Given the description of an element on the screen output the (x, y) to click on. 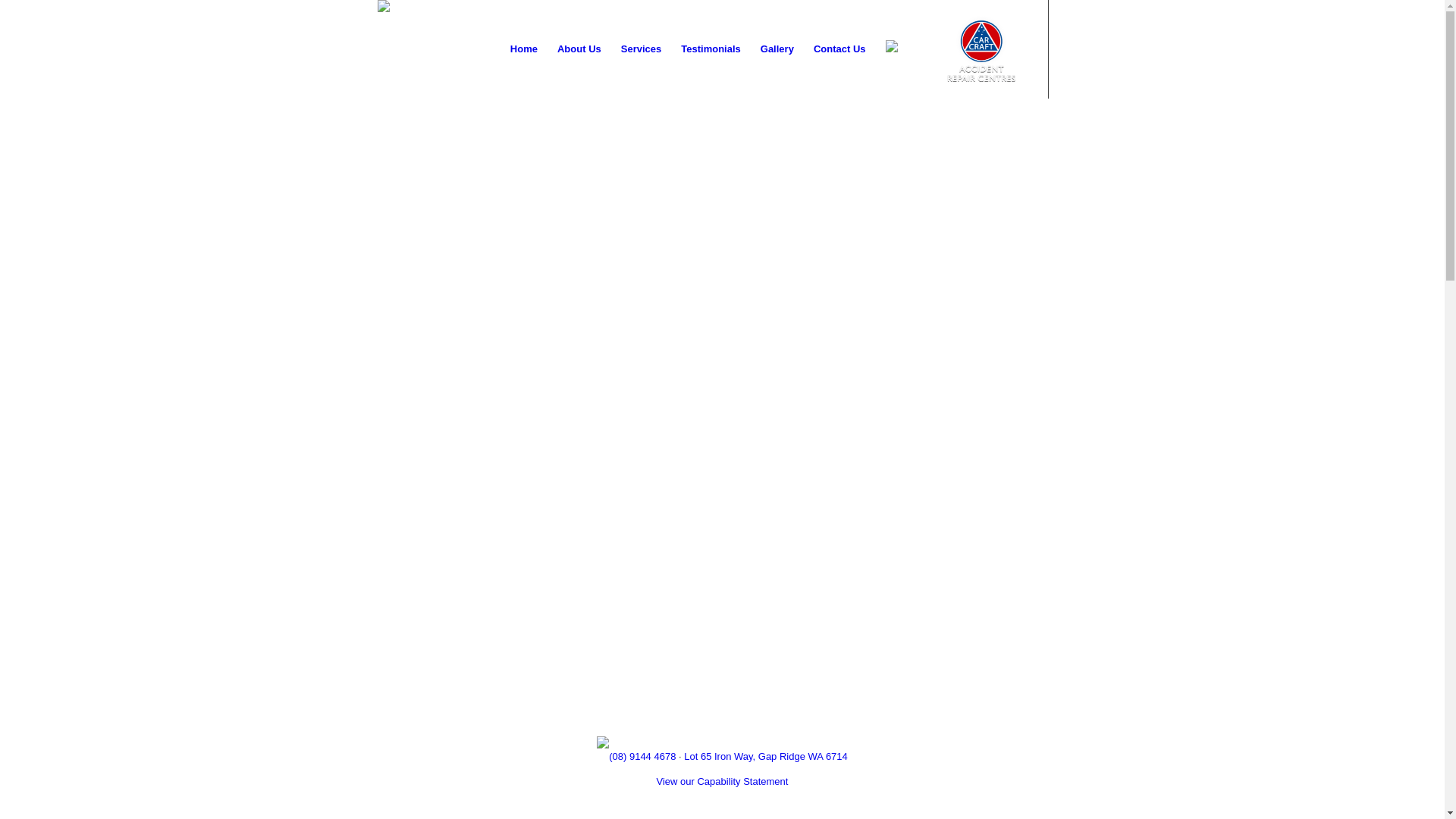
Next Element type: text (1431, 386)
Previous Element type: text (13, 386)
Gallery Element type: text (776, 49)
Untitled Element type: hover (433, 18)
Home Element type: text (523, 49)
5 Element type: text (746, 685)
Testimonials Element type: text (710, 49)
(08) 9144 4678 Element type: text (641, 756)
View our Capability Statement Element type: text (722, 781)
						 Element type: hover (903, 49)
3 Element type: text (722, 685)
1 Element type: text (698, 685)
Contact Us Element type: text (839, 49)
About Us Element type: text (579, 49)
Services Element type: text (641, 49)
Lot 65 Iron Way, Gap Ridge WA 6714 Element type: text (765, 756)
2 Element type: text (710, 685)
4 Element type: text (734, 685)
